Given the description of an element on the screen output the (x, y) to click on. 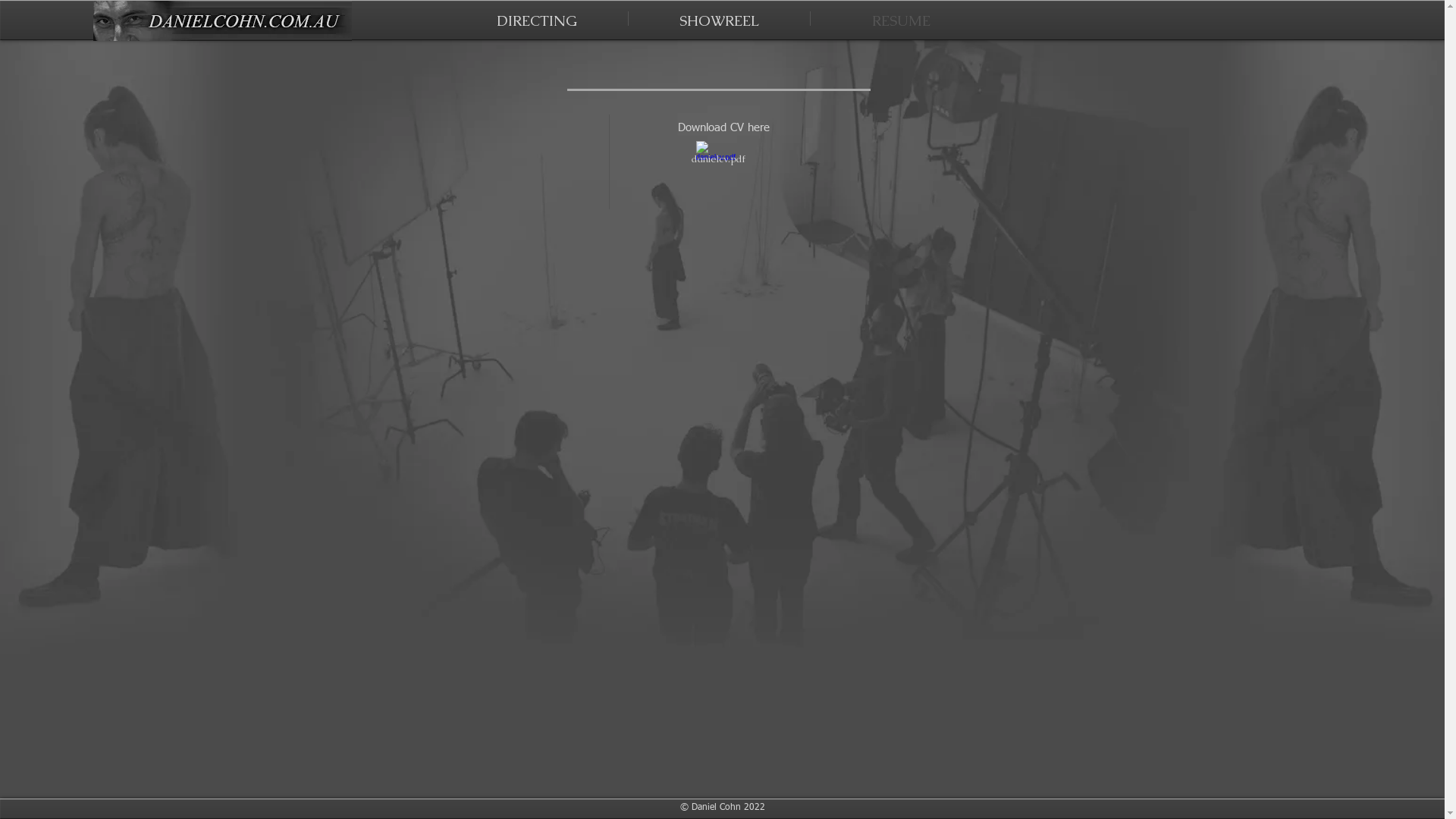
danielcv.pdf Element type: text (717, 150)
RESUME Element type: text (900, 18)
logo.jpg Element type: hover (221, 20)
DIRECTING Element type: text (536, 18)
SHOWREEL Element type: text (718, 18)
